Given the description of an element on the screen output the (x, y) to click on. 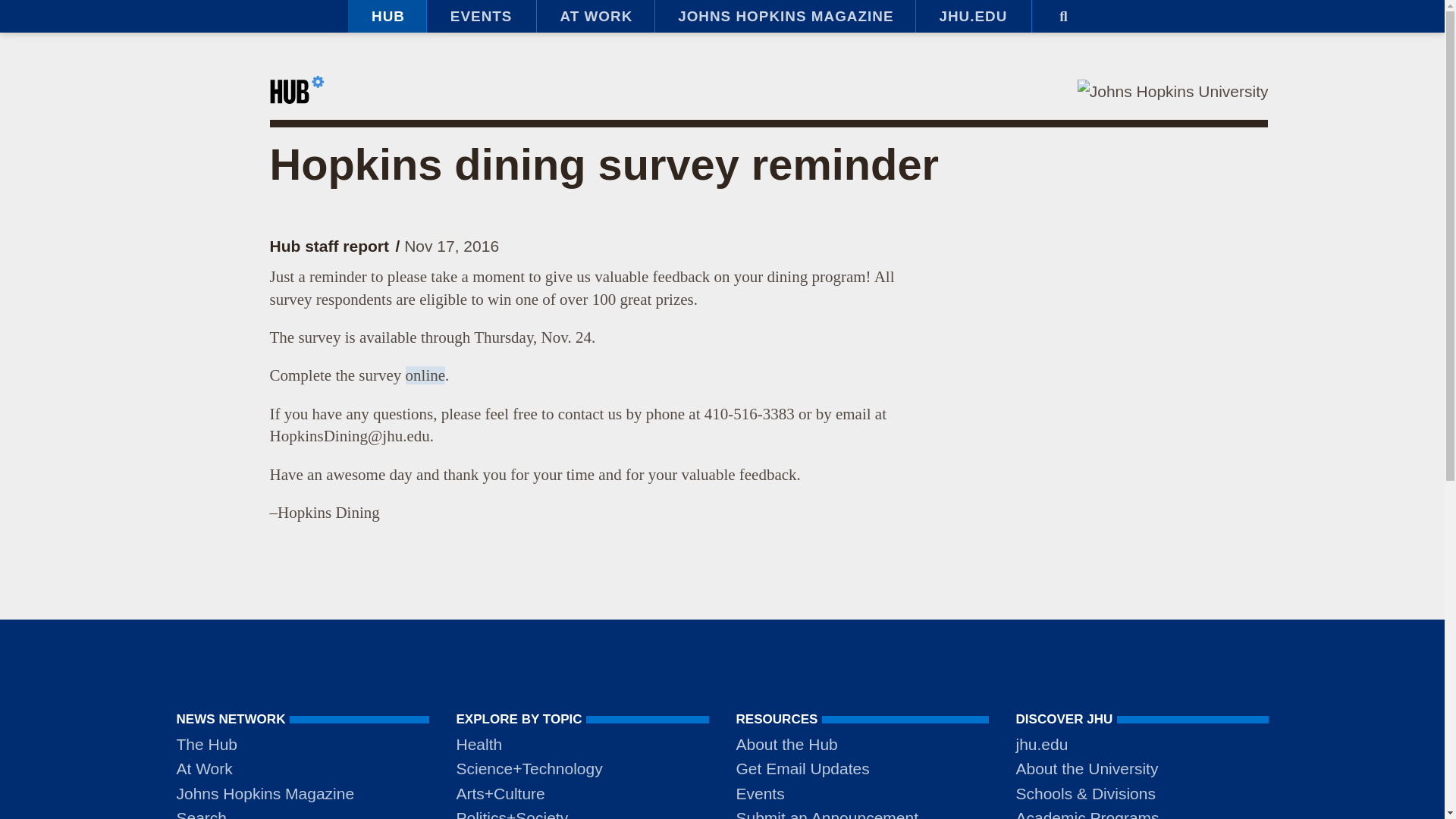
HUB (386, 16)
AT WORK (594, 16)
JOHNS HOPKINS MAGAZINE (784, 16)
online (425, 375)
JHU.EDU (972, 16)
Johns Hopkins University (1172, 91)
EVENTS (480, 16)
